Given the description of an element on the screen output the (x, y) to click on. 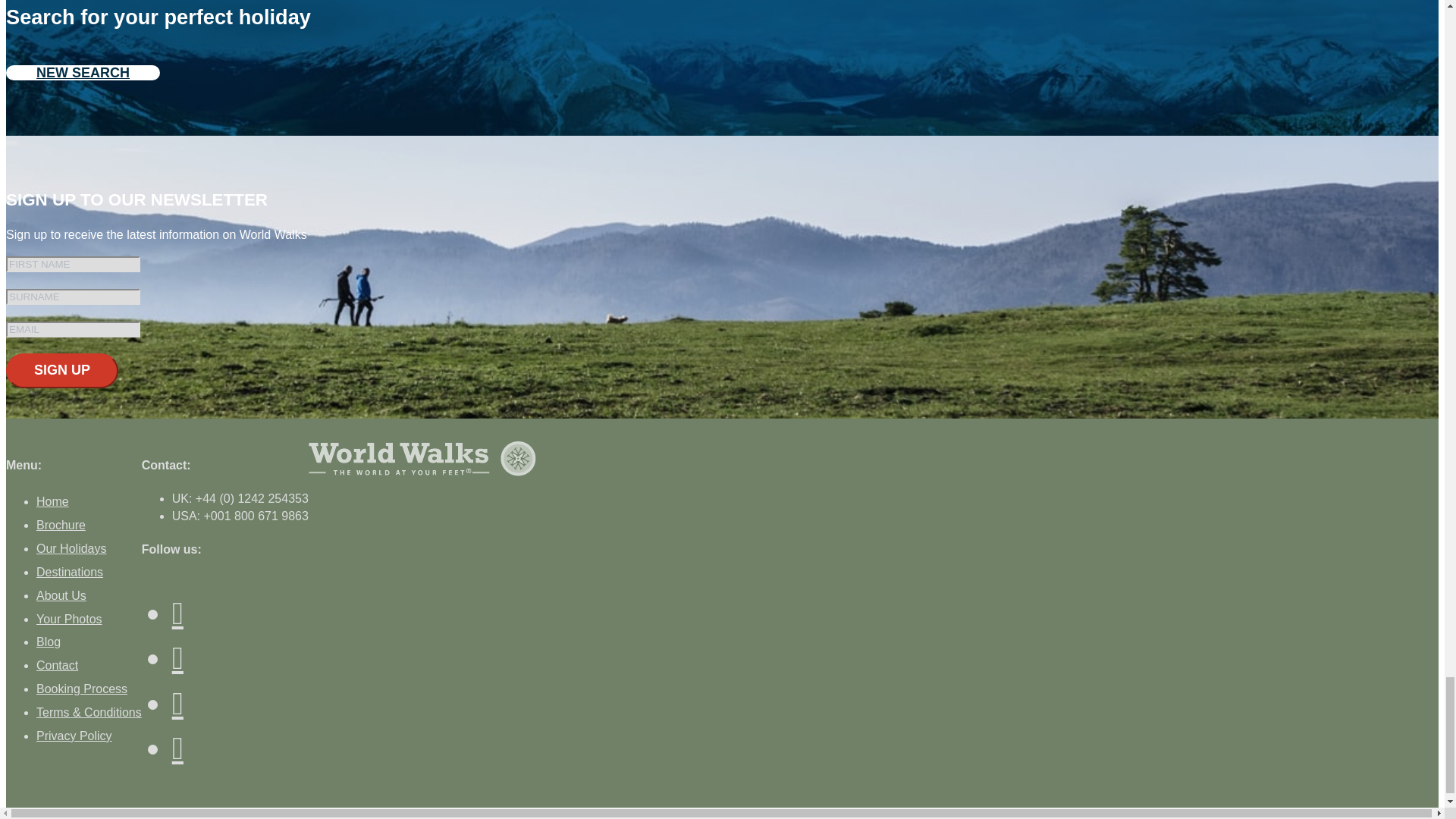
SIGN UP (61, 370)
